Given the description of an element on the screen output the (x, y) to click on. 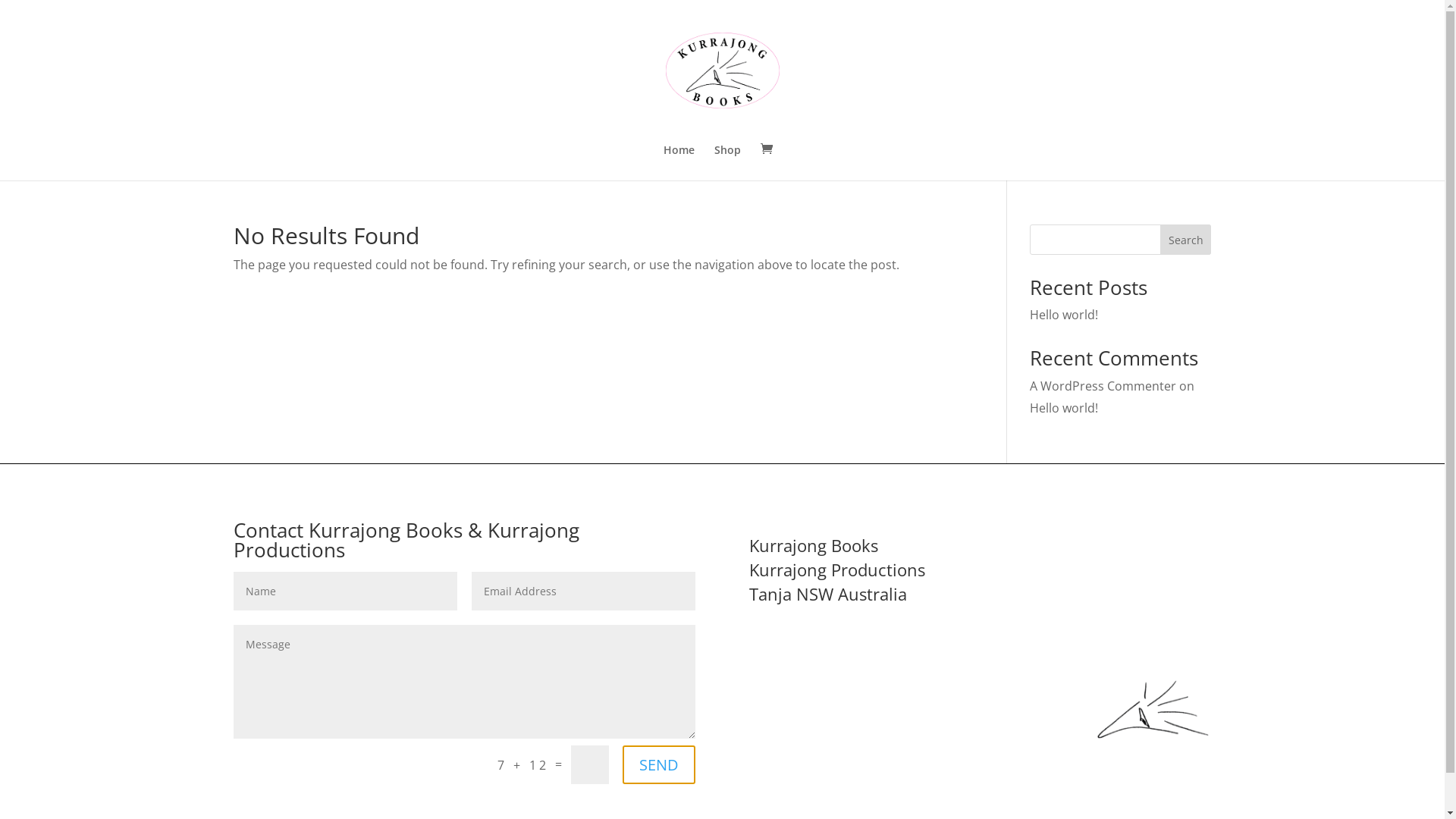
Hello world! Element type: text (1063, 407)
A WordPress Commenter Element type: text (1102, 385)
Hello world! Element type: text (1063, 314)
SEND Element type: text (658, 764)
Shop Element type: text (727, 162)
charleystampkurrajong Element type: hover (1154, 708)
Search Element type: text (1185, 239)
Home Element type: text (677, 162)
